Given the description of an element on the screen output the (x, y) to click on. 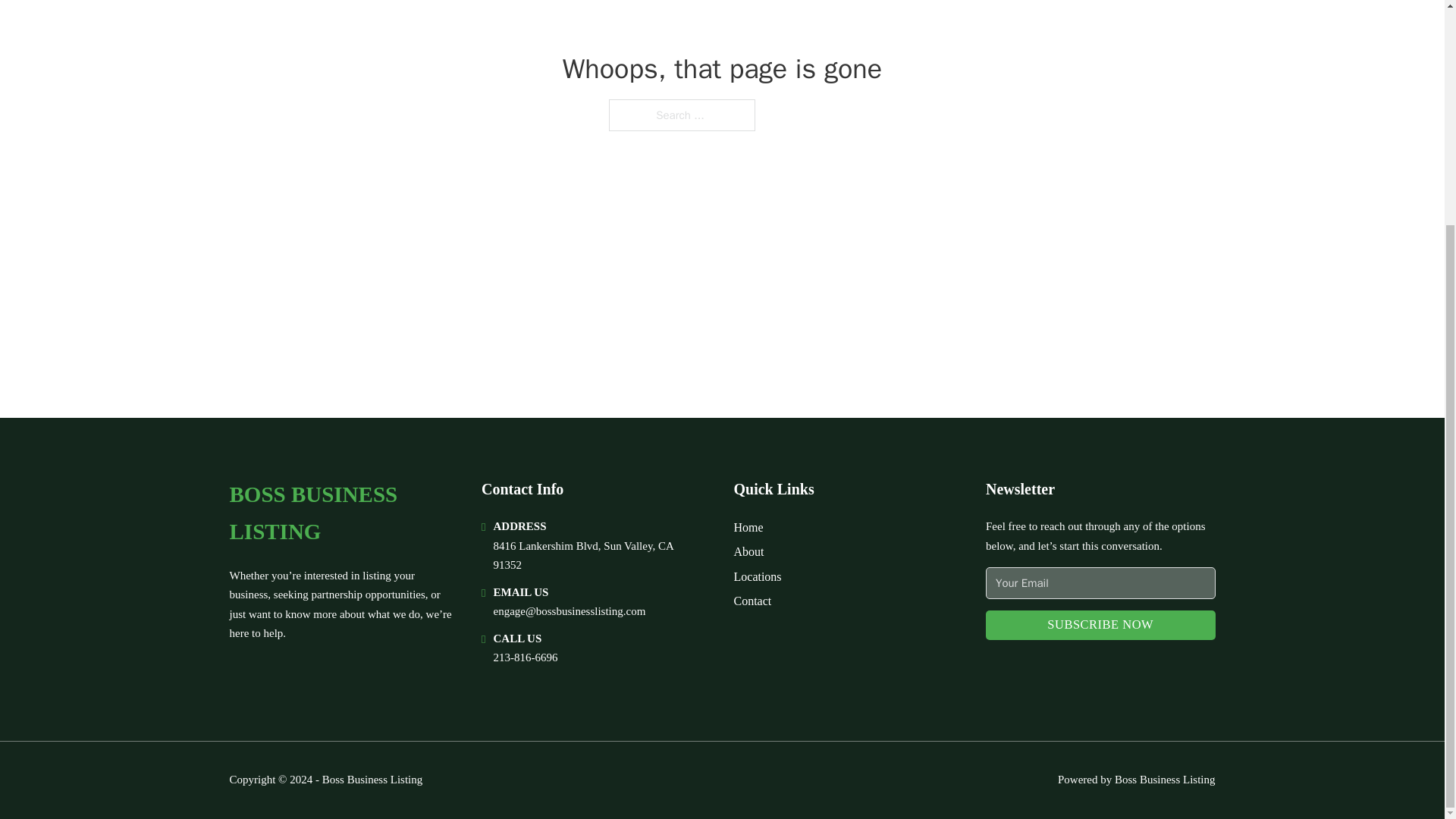
About (748, 551)
213-816-6696 (525, 657)
SUBSCRIBE NOW (1100, 624)
Locations (757, 576)
Contact (752, 600)
BOSS BUSINESS LISTING (343, 513)
Home (747, 526)
